Given the description of an element on the screen output the (x, y) to click on. 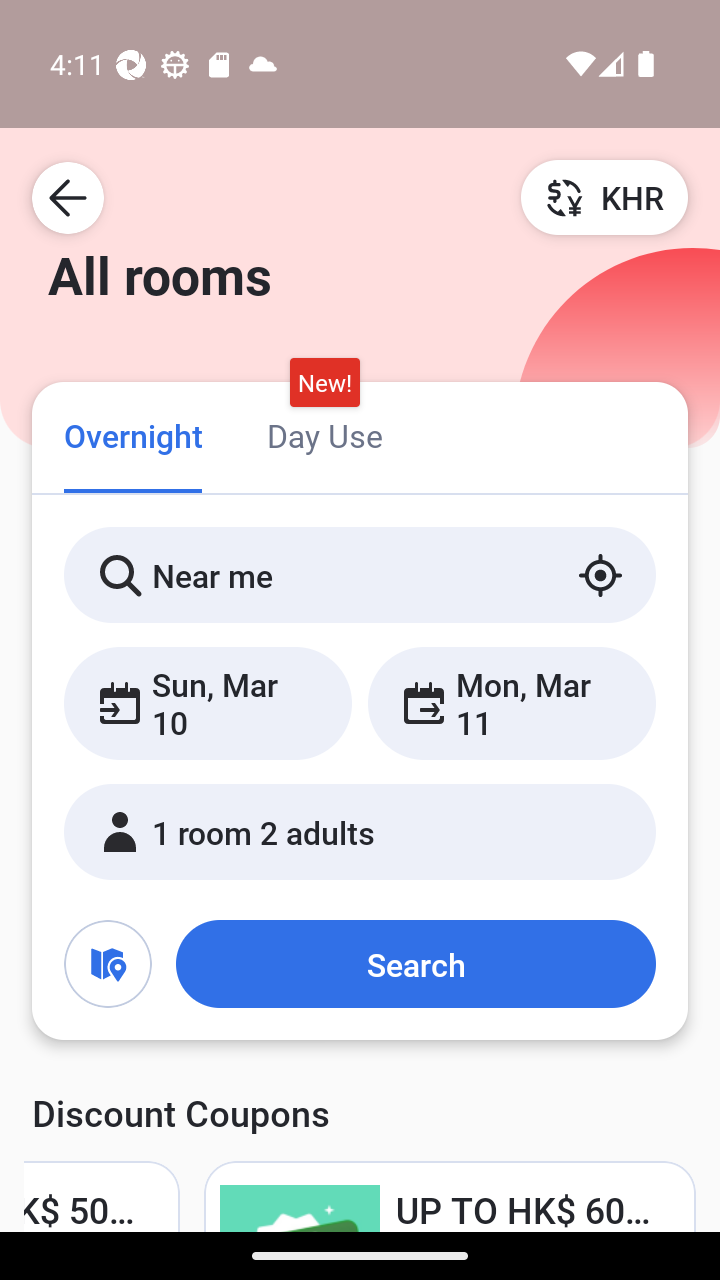
KHR (604, 197)
New! (324, 383)
Day Use (324, 434)
Near me (359, 575)
Sun, Mar 10 (208, 703)
Mon, Mar 11 (511, 703)
1 room 2 adults (359, 831)
Search (415, 964)
